Given the description of an element on the screen output the (x, y) to click on. 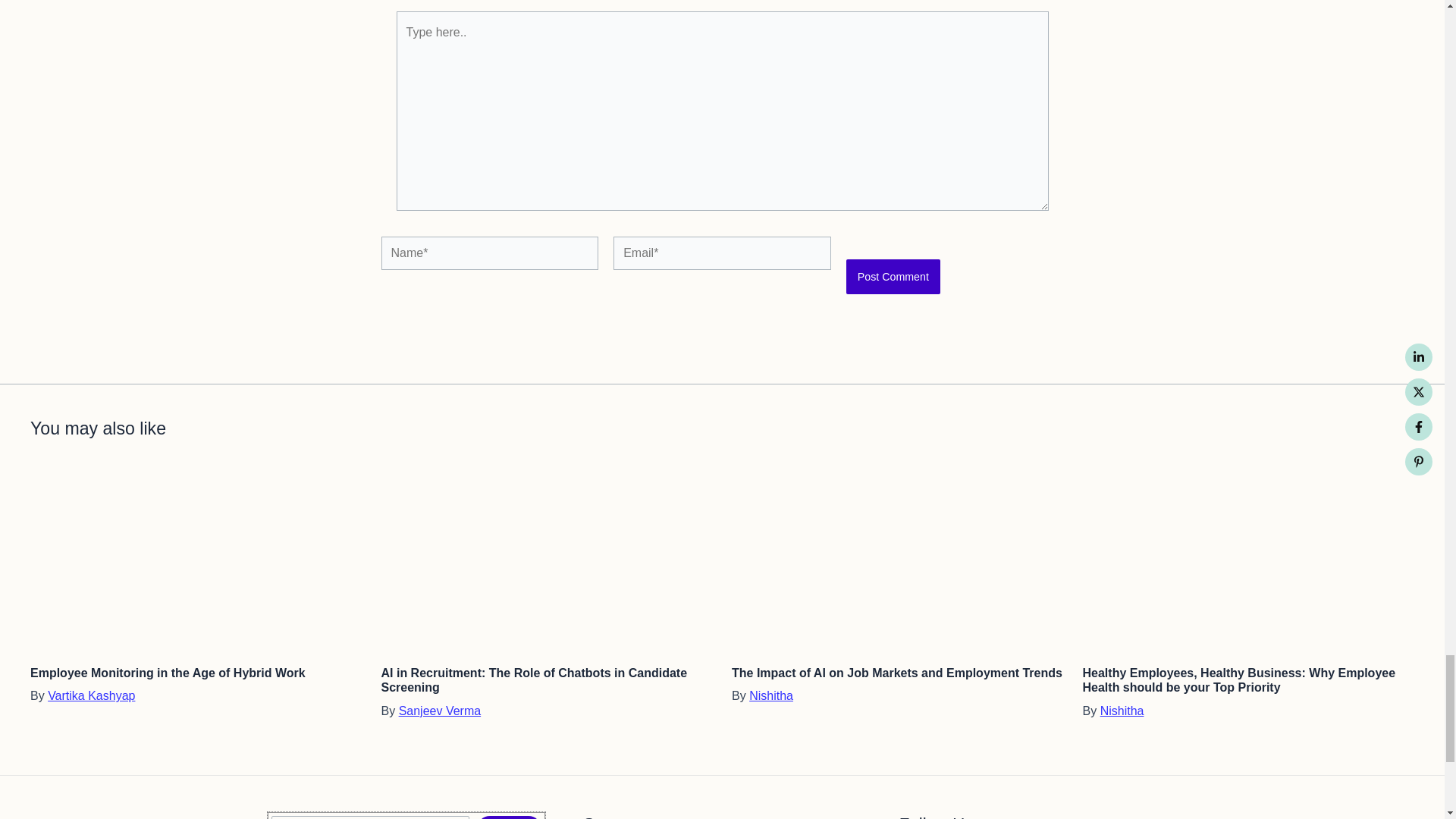
Employee Monitoring in the Age of Hybrid Work (167, 672)
Sanjeev Verma (439, 710)
View all posts by Nishitha (771, 695)
Vartika Kashyap (91, 695)
View all posts by Sanjeev Verma (439, 710)
Post Comment (892, 276)
The Impact of AI on Job Markets and Employment Trends 6 (898, 559)
View all posts by Vartika Kashyap (91, 695)
View all posts by Nishitha (1122, 710)
Employee Monitoring in the Age of Hybrid Work 4 (196, 559)
Post Comment (892, 276)
